Given the description of an element on the screen output the (x, y) to click on. 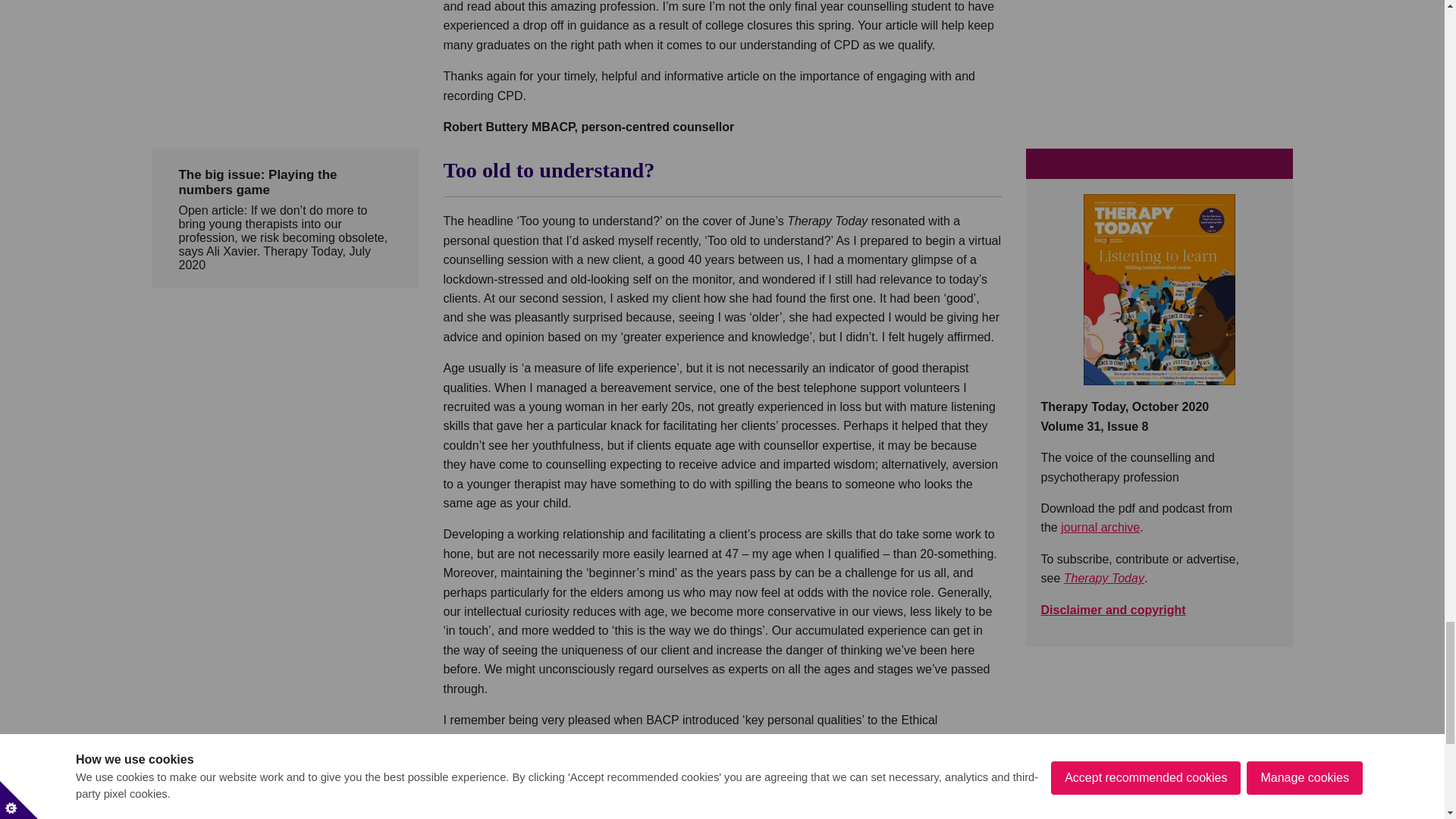
October 2020 (1158, 289)
Therapy Today (1104, 577)
Disclaimer and copyright (1113, 609)
Archive (1100, 526)
